Given the description of an element on the screen output the (x, y) to click on. 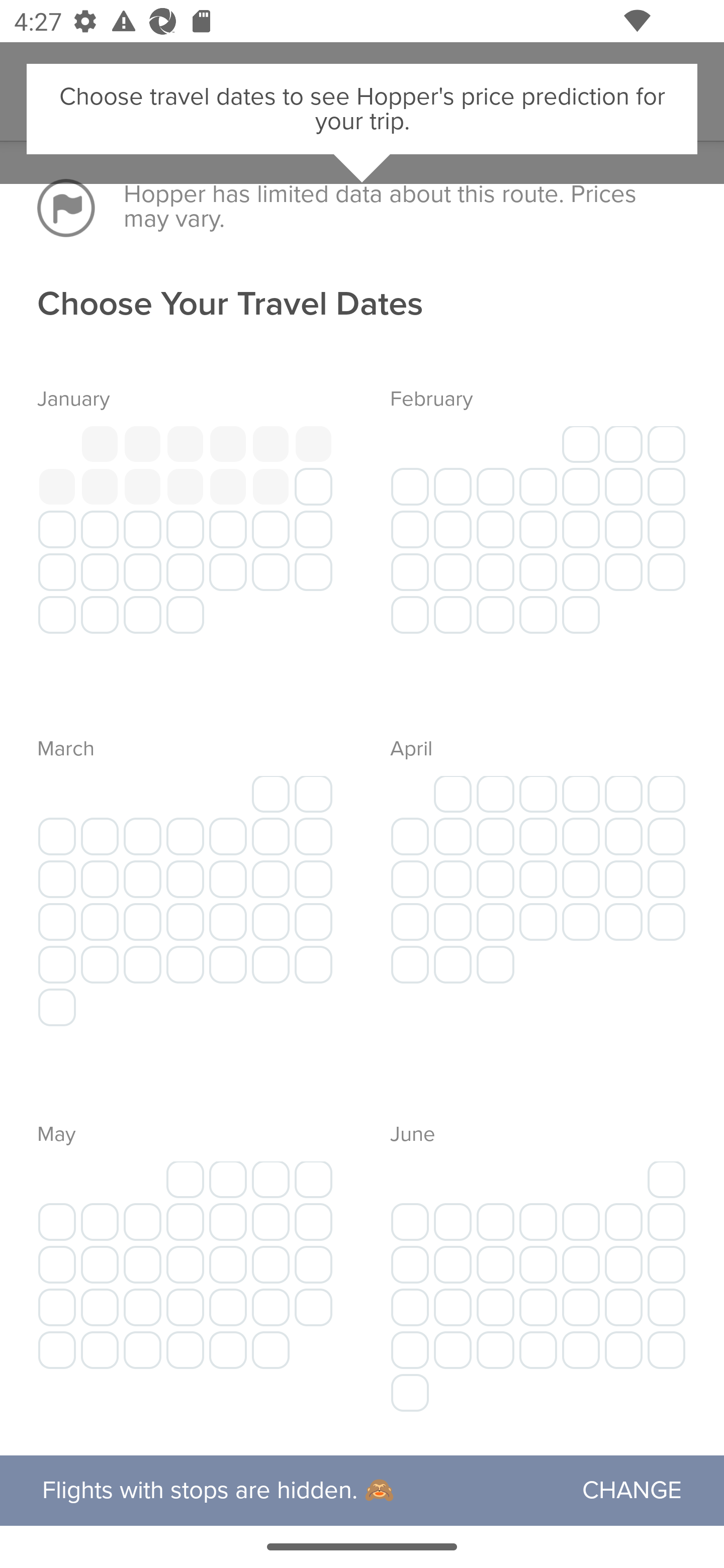
January (199, 510)
February (524, 510)
March (199, 878)
April (524, 878)
May (199, 1263)
June (524, 1263)
Flights with stops are hidden. 🙈 CHANGE (362, 1490)
CHANGE (642, 1490)
